Given the description of an element on the screen output the (x, y) to click on. 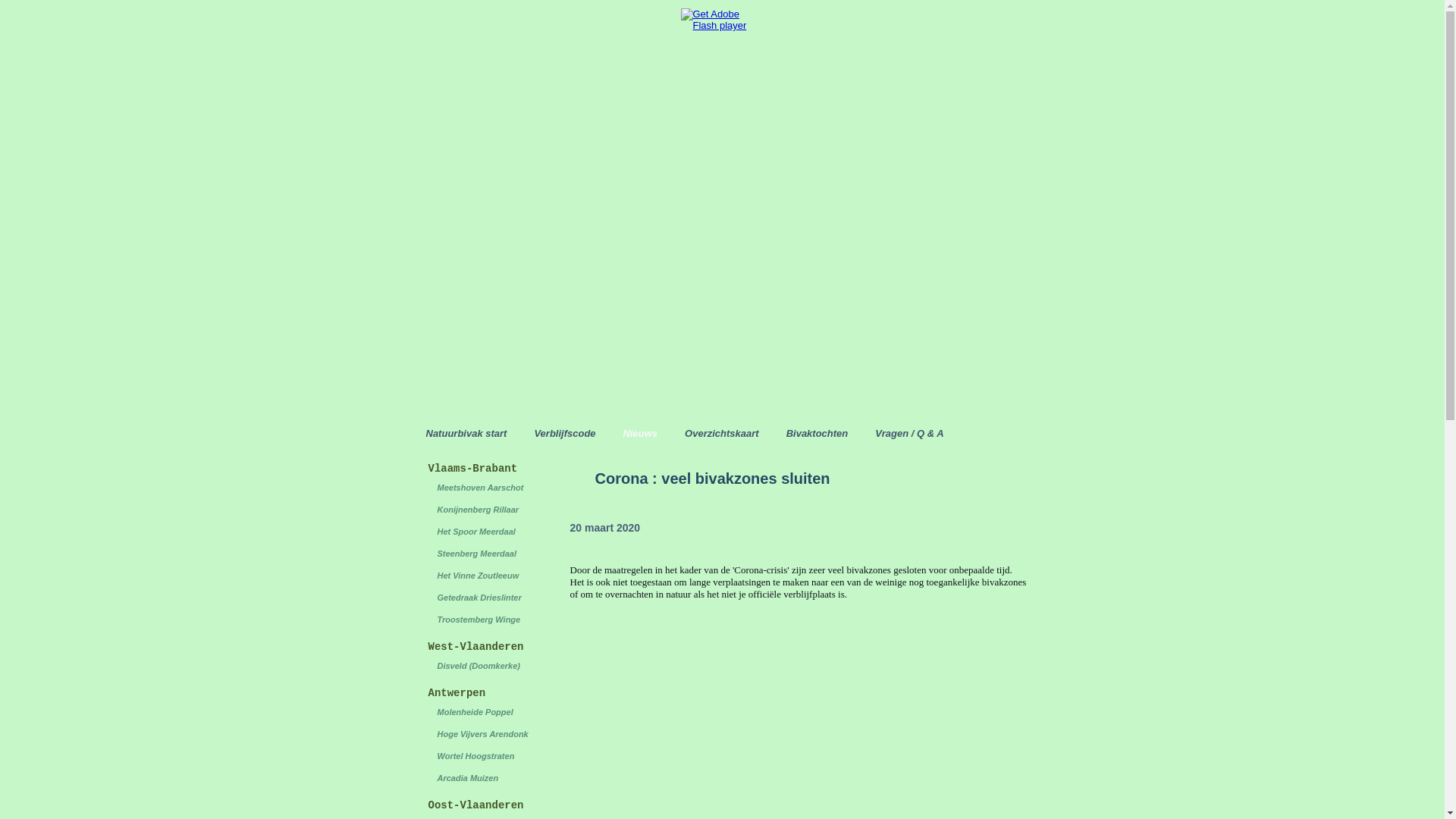
Corona : veel bivakzones sluiten Element type: text (711, 478)
Hoge Vijvers Arendonk Element type: text (479, 733)
Bivaktochten Element type: text (817, 433)
Konijnenberg Rillaar Element type: text (479, 509)
Verblijfscode Element type: text (564, 433)
Nieuws Element type: text (640, 433)
Vragen / Q & A Element type: text (908, 433)
Het Spoor Meerdaal Element type: text (479, 531)
Wortel Hoogstraten Element type: text (479, 755)
Molenheide Poppel Element type: text (479, 711)
Troostemberg Winge Element type: text (479, 619)
Het Vinne Zoutleeuw Element type: text (479, 575)
Advertisement Element type: hover (721, 306)
Arcadia Muizen Element type: text (479, 777)
Meetshoven Aarschot Element type: text (479, 487)
Disveld (Doomkerke) Element type: text (479, 665)
Natuurbivak start Element type: text (465, 433)
Getedraak Drieslinter Element type: text (479, 597)
Steenberg Meerdaal Element type: text (479, 553)
Overzichtskaart Element type: text (721, 433)
